Given the description of an element on the screen output the (x, y) to click on. 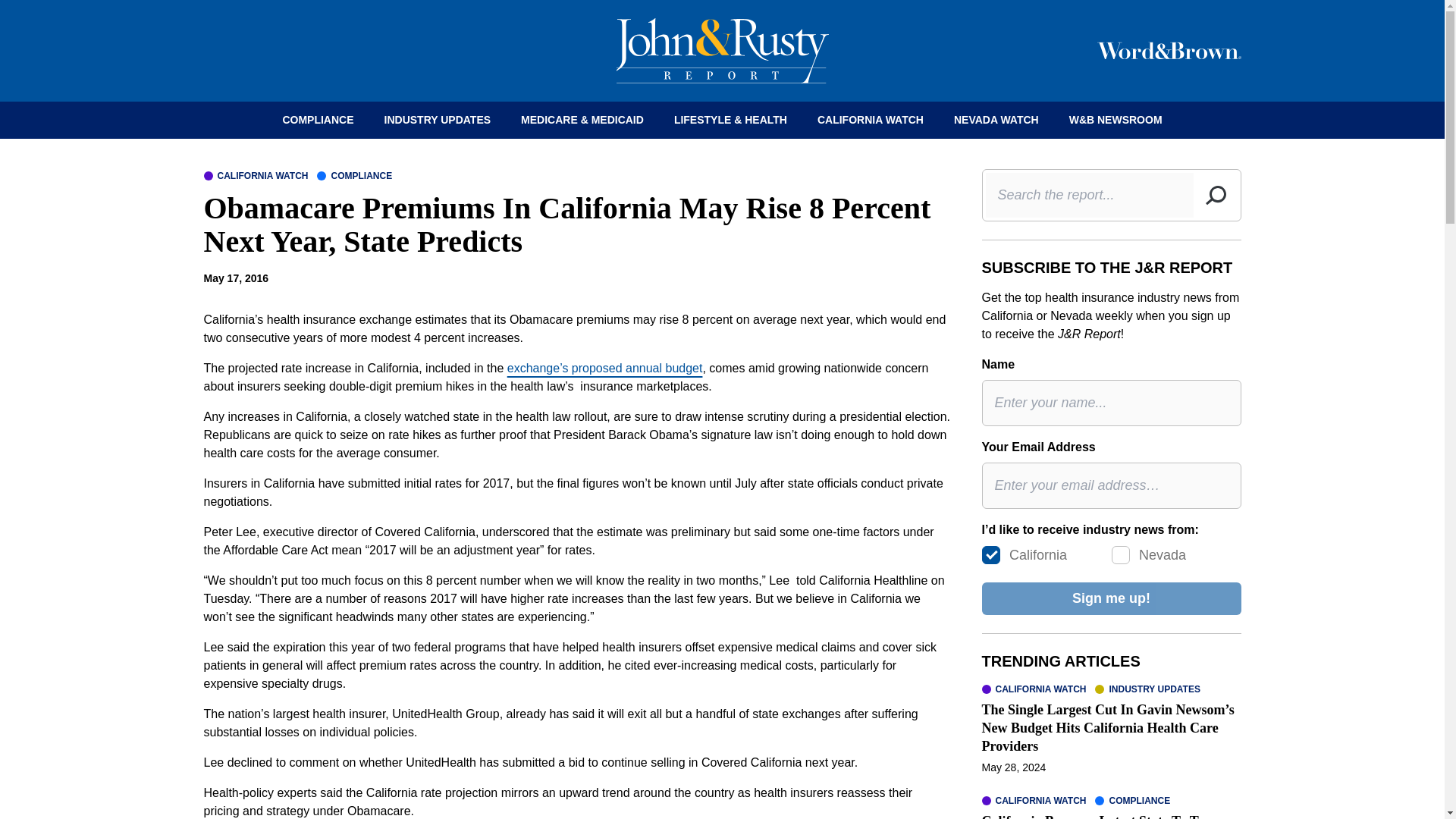
CALIFORNIA WATCH (255, 175)
California (989, 555)
Nevada (1120, 555)
CALIFORNIA WATCH (870, 119)
INDUSTRY UPDATES (437, 119)
COMPLIANCE (317, 119)
CALIFORNIA WATCH (1033, 689)
NEVADA WATCH (996, 119)
Sign me up! (1110, 598)
Sign me up! (1110, 598)
INDUSTRY UPDATES (1146, 689)
COMPLIANCE (354, 175)
CALIFORNIA WATCH (1033, 800)
